Given the description of an element on the screen output the (x, y) to click on. 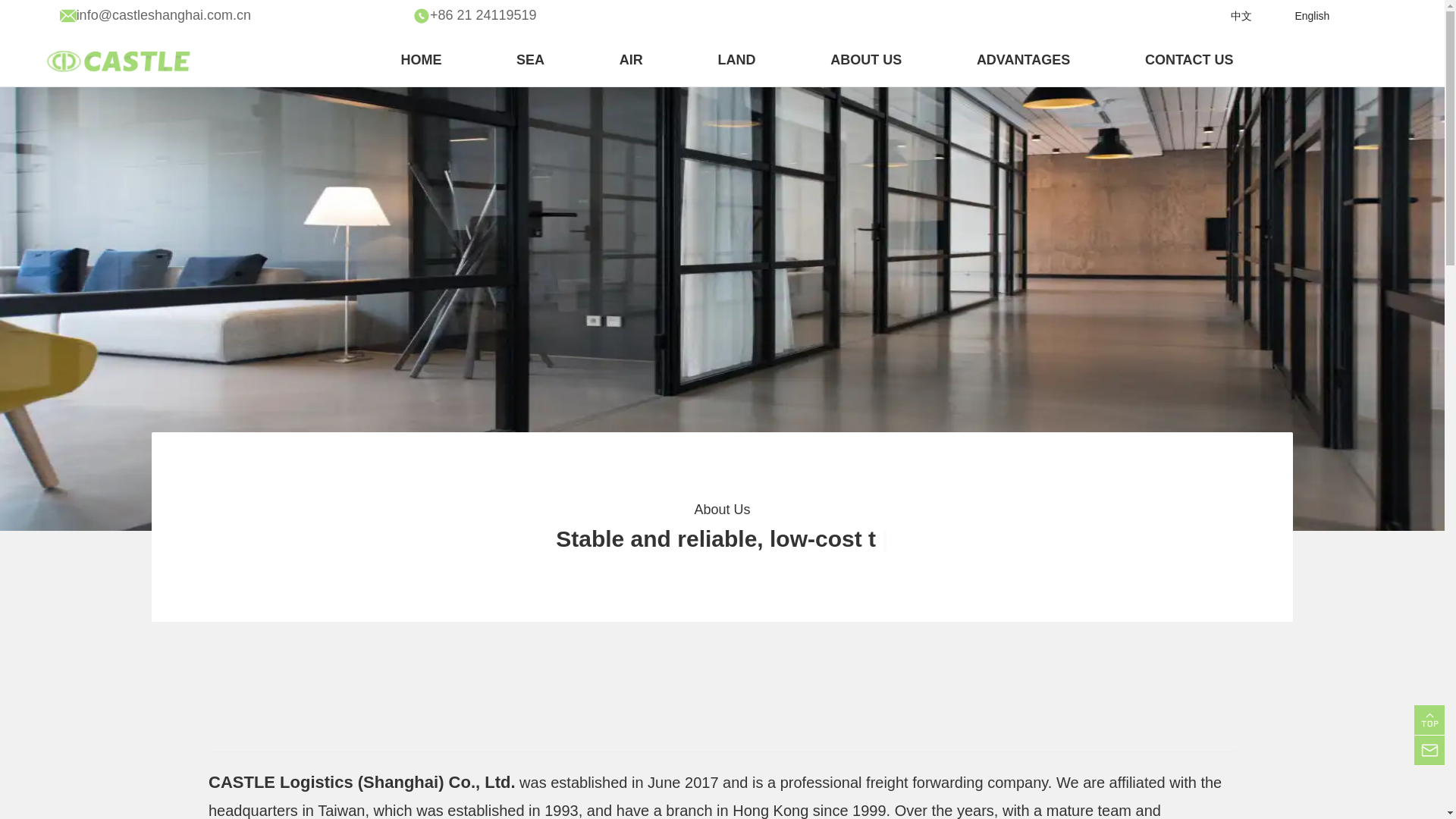
LAND (736, 59)
English (1311, 15)
SEA (530, 59)
ADVANTAGES (1023, 59)
CONTACT US (1188, 59)
ABOUT US (865, 59)
HOME (420, 59)
AIR (631, 59)
